Given the description of an element on the screen output the (x, y) to click on. 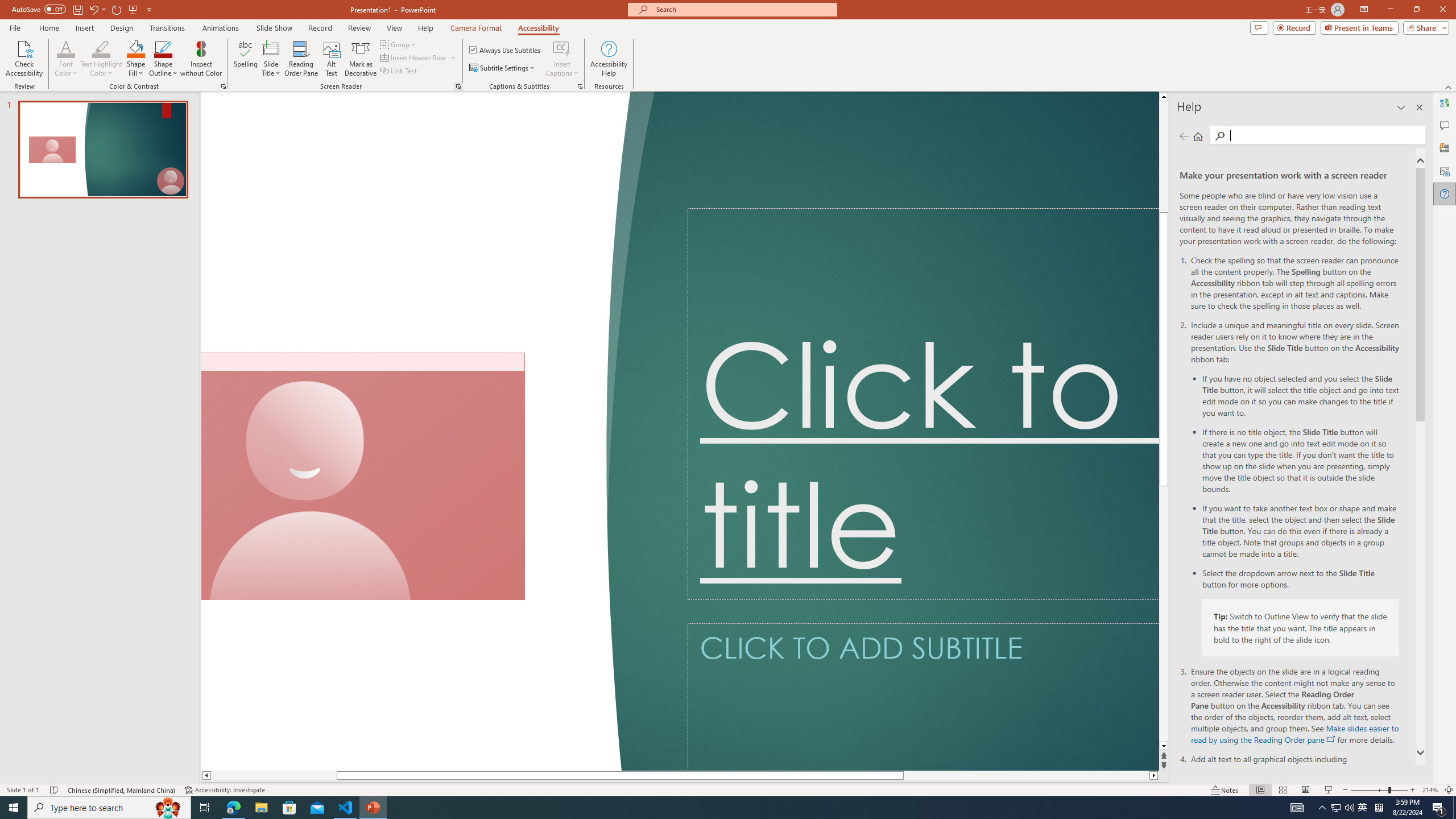
Color & Contrast (223, 85)
